Given the description of an element on the screen output the (x, y) to click on. 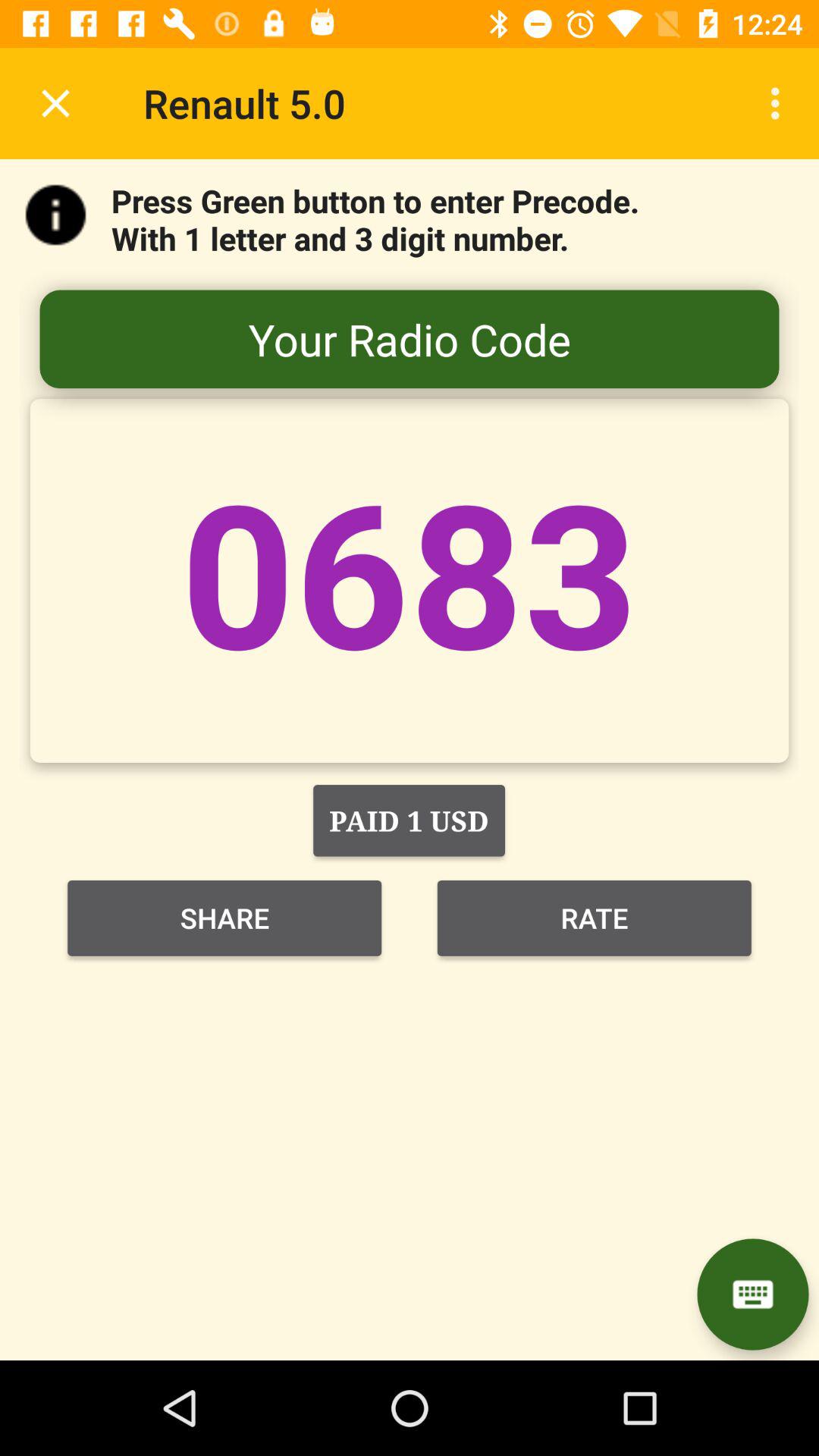
display keyboard (752, 1294)
